Given the description of an element on the screen output the (x, y) to click on. 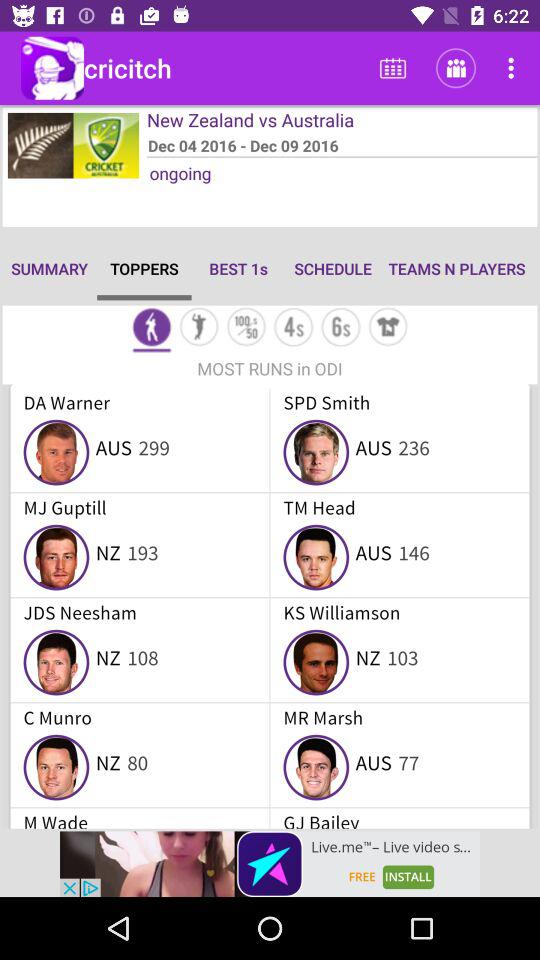
select 4s toppers (293, 328)
